Given the description of an element on the screen output the (x, y) to click on. 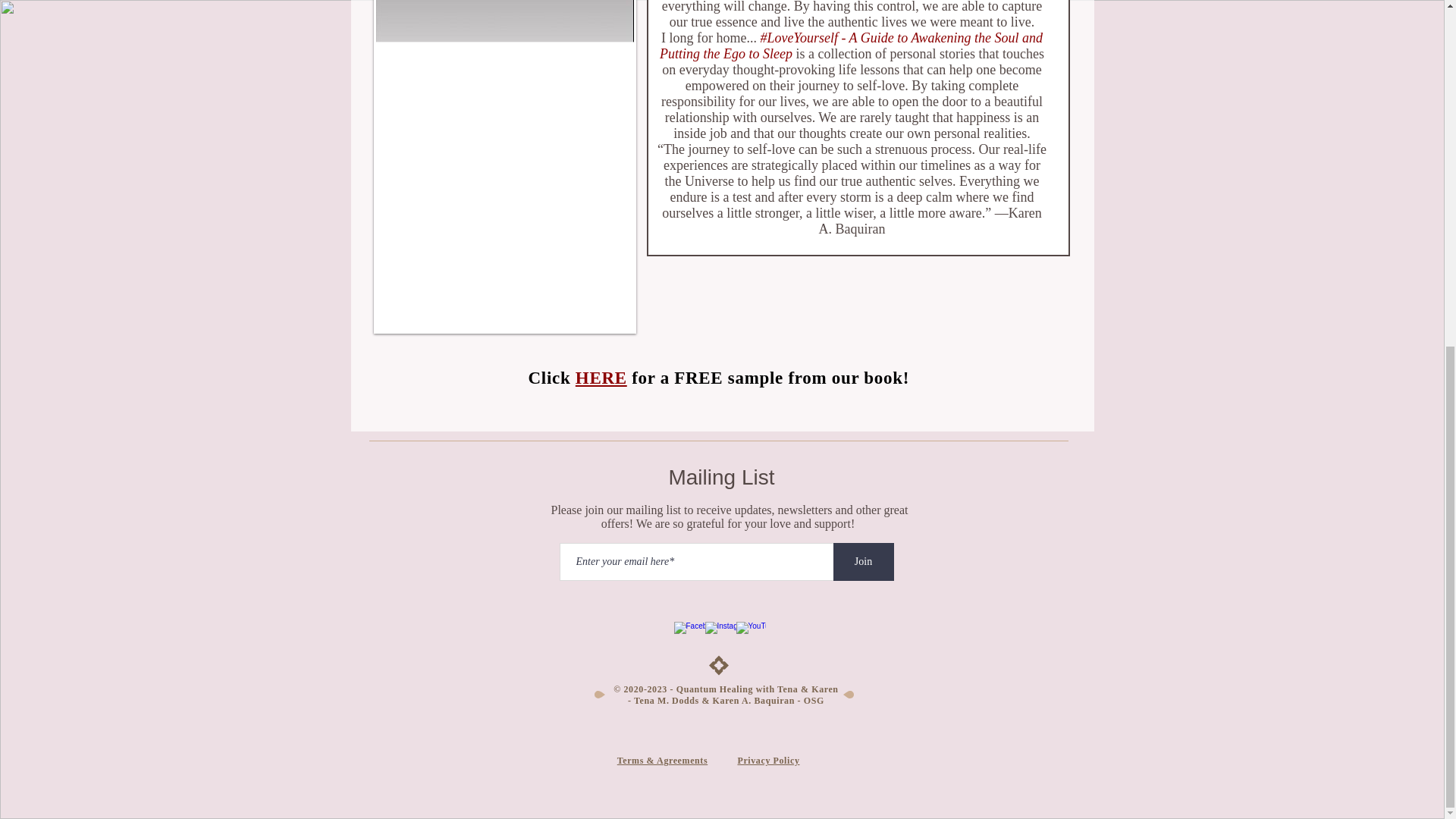
HERE (601, 377)
Join (862, 561)
Privacy Policy (767, 760)
